Given the description of an element on the screen output the (x, y) to click on. 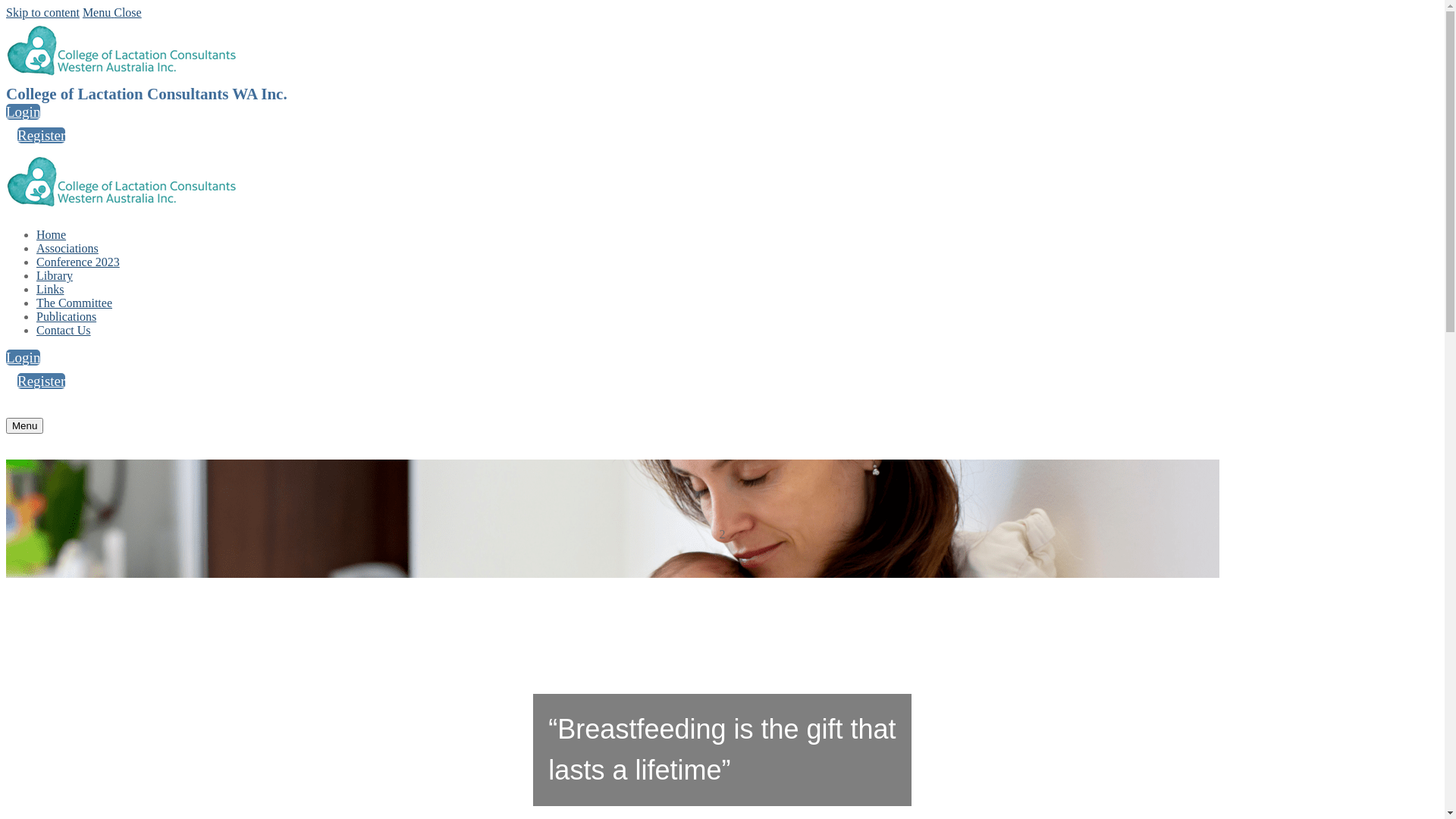
Menu Element type: text (24, 425)
Associations Element type: text (67, 247)
The Committee Element type: text (74, 302)
Login Element type: text (23, 357)
Login Element type: text (23, 111)
Register Element type: text (41, 135)
Menu Close Element type: text (111, 12)
Links Element type: text (49, 288)
Register Element type: text (41, 381)
Contact Us Element type: text (63, 329)
Library Element type: text (54, 275)
Conference 2023 Element type: text (77, 261)
Home Element type: text (50, 234)
Publications Element type: text (66, 316)
Skip to content Element type: text (42, 12)
